Given the description of an element on the screen output the (x, y) to click on. 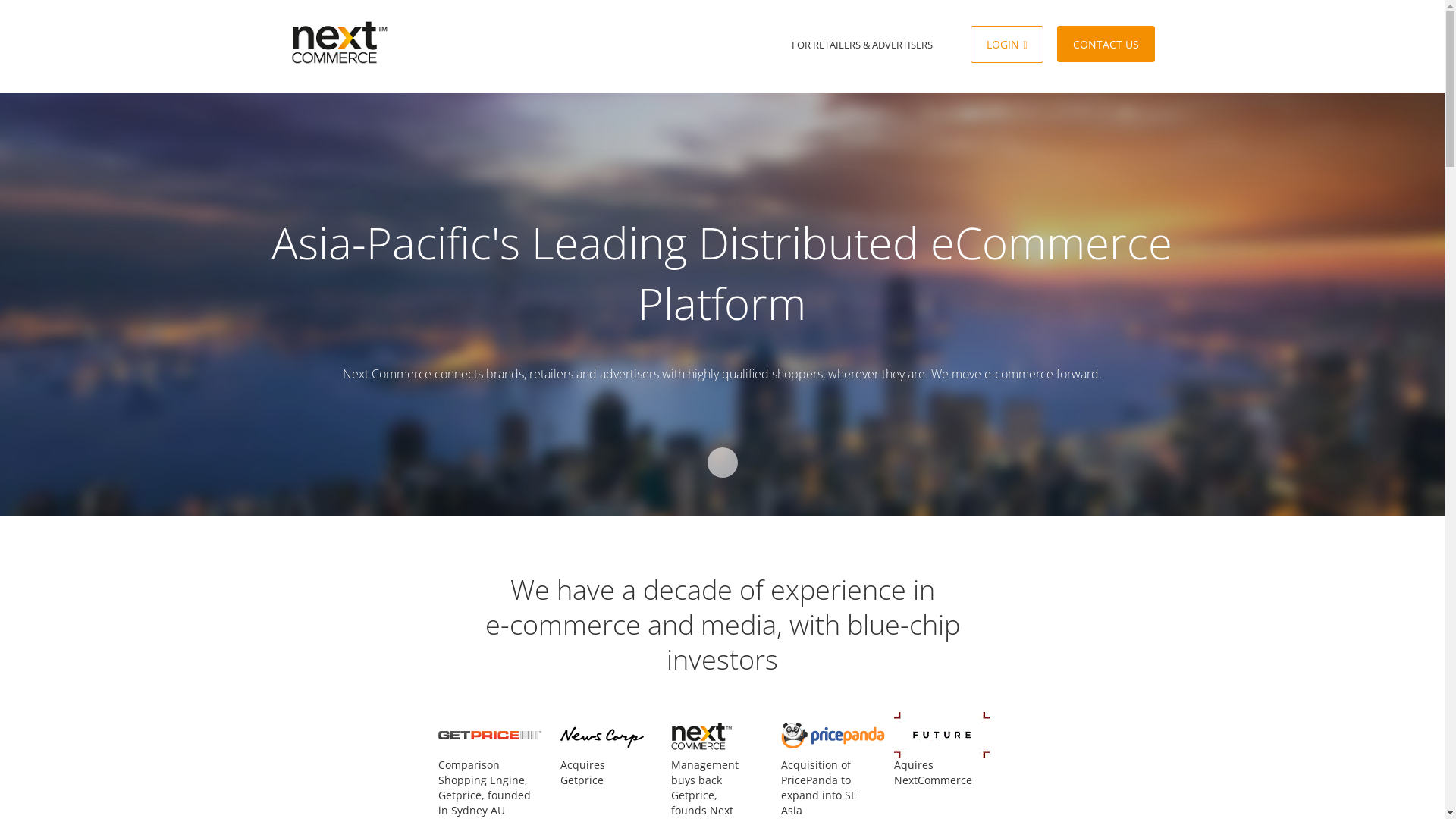
CONTACT US Element type: text (1105, 43)
FOR RETAILERS & ADVERTISERS Element type: text (861, 44)
